Given the description of an element on the screen output the (x, y) to click on. 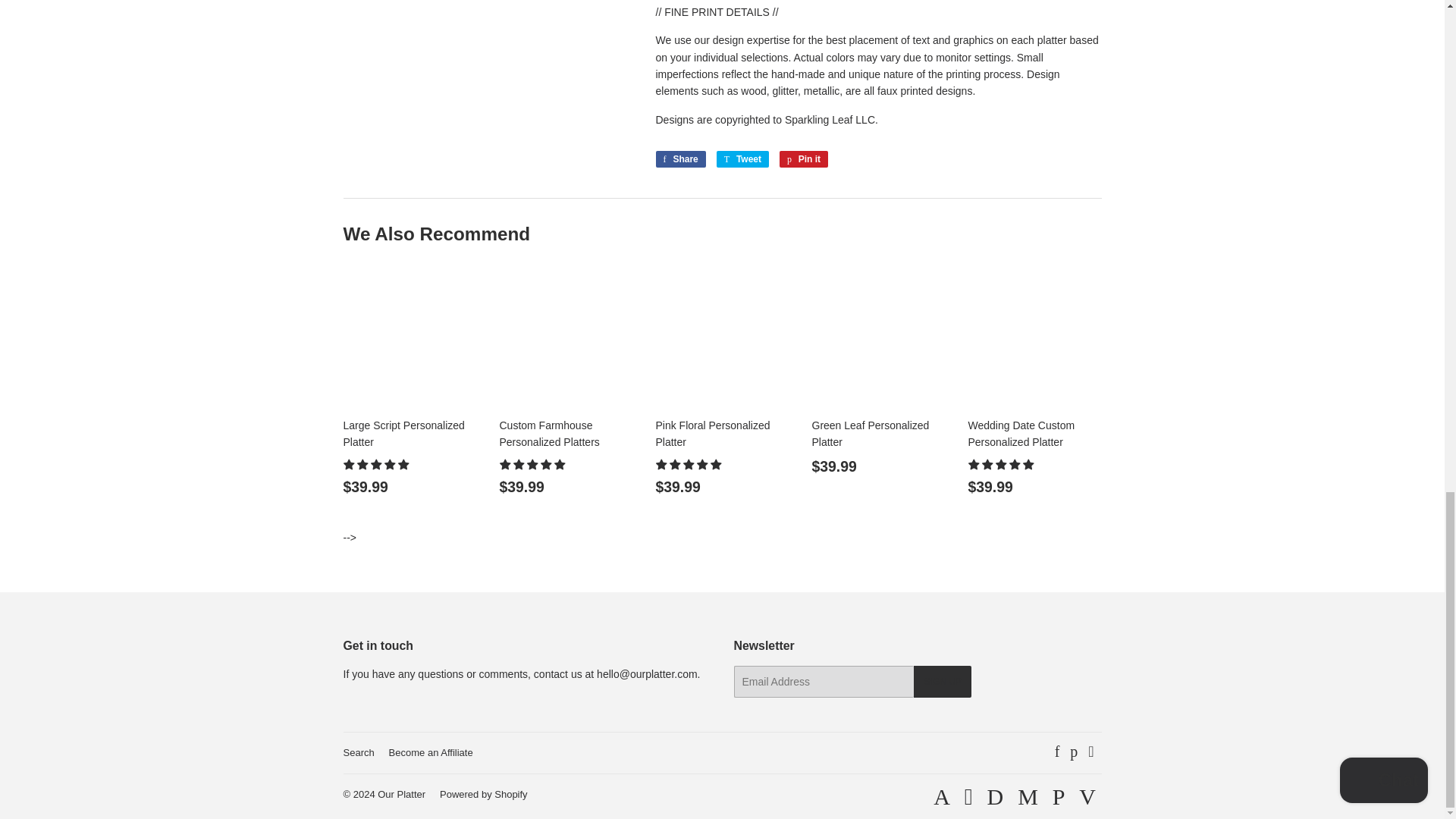
Share on Facebook (679, 158)
Tweet on Twitter (742, 158)
Pin on Pinterest (803, 158)
